Given the description of an element on the screen output the (x, y) to click on. 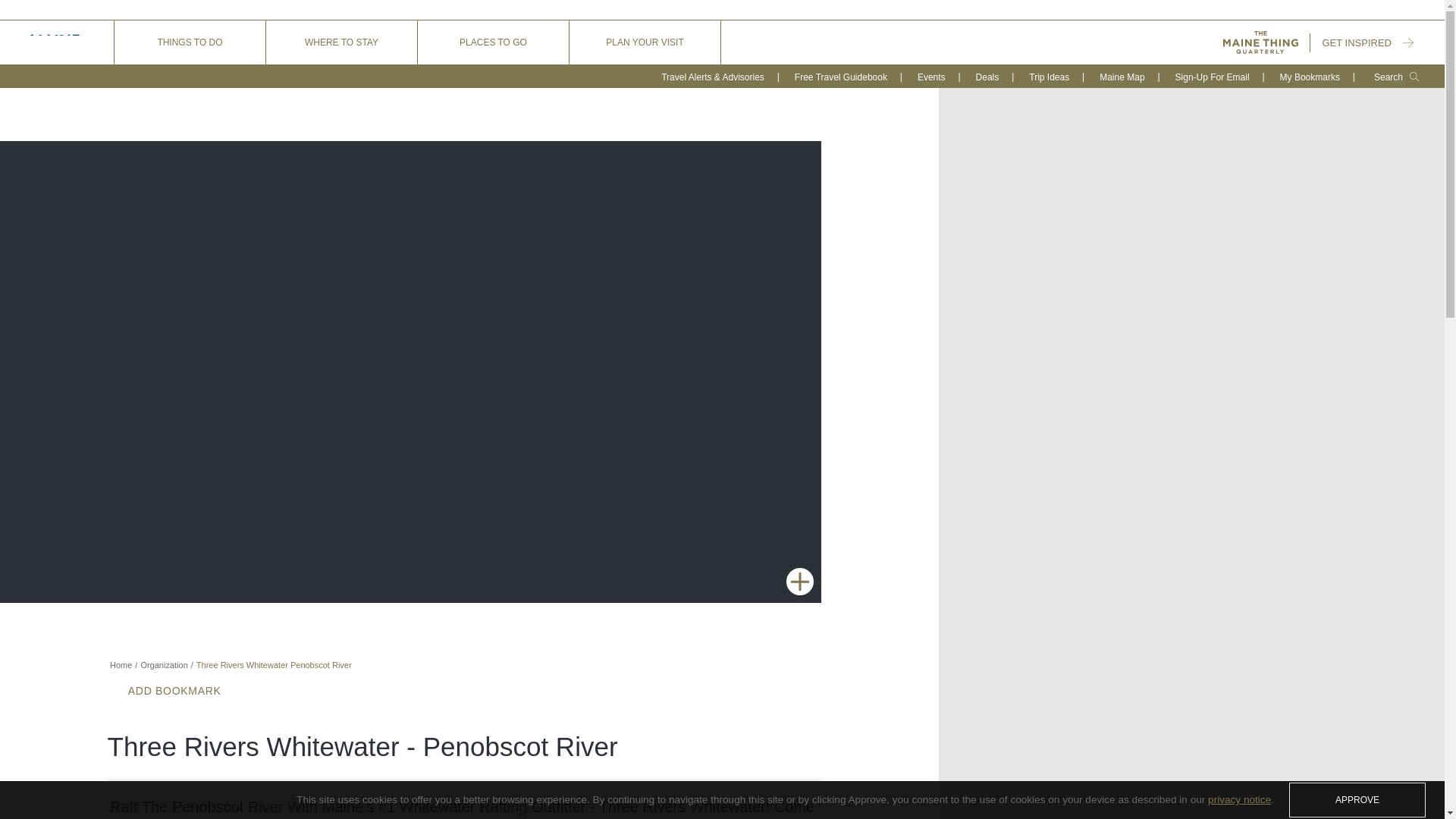
APPROVE (1356, 799)
privacy notice (1239, 799)
